Given the description of an element on the screen output the (x, y) to click on. 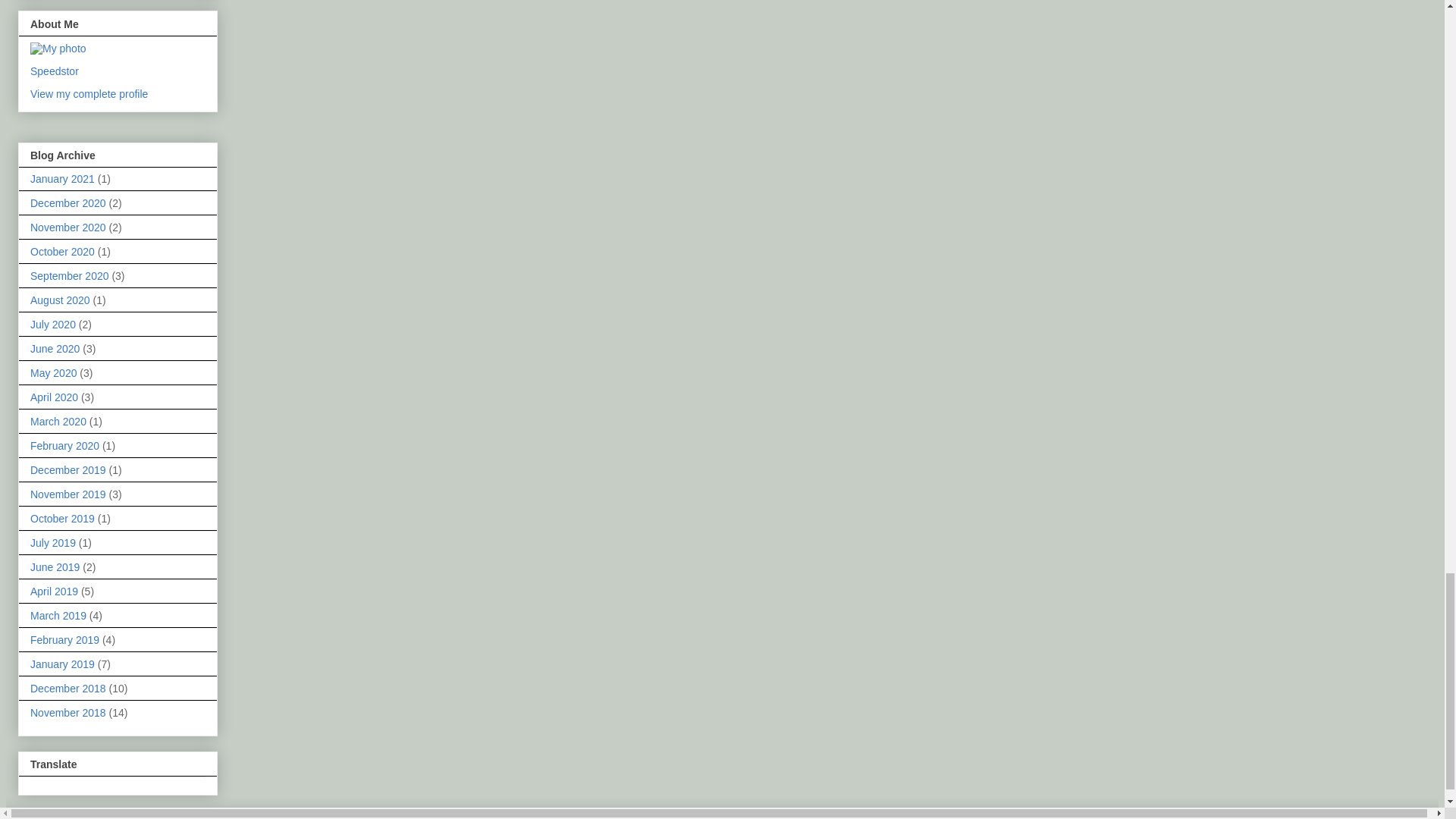
December 2020 (68, 203)
April 2020 (54, 397)
February 2020 (64, 445)
December 2019 (68, 469)
View my complete profile (89, 93)
October 2020 (62, 251)
July 2020 (52, 324)
November 2019 (68, 494)
May 2020 (53, 372)
March 2020 (57, 421)
August 2020 (60, 300)
June 2020 (55, 348)
Speedstor (54, 70)
September 2020 (69, 275)
January 2021 (62, 178)
